Given the description of an element on the screen output the (x, y) to click on. 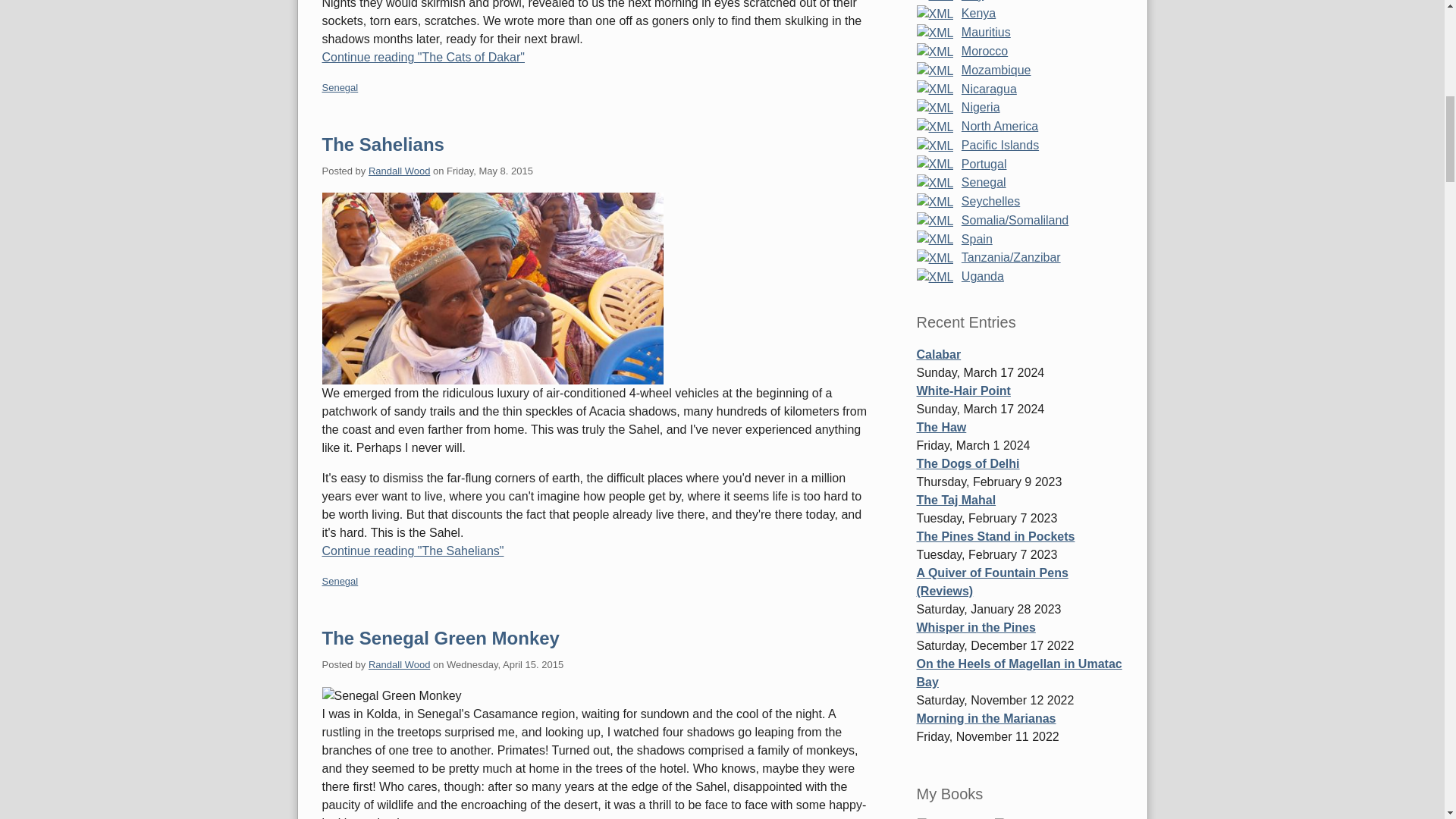
The Sahelians (491, 288)
Randall Wood (398, 170)
Senegal (339, 87)
Randall Wood (398, 664)
The Senegal Green Monkey (440, 638)
The Sahelians (382, 144)
Continue reading "The Sahelians" (594, 551)
Senegal (339, 581)
Continue reading "The Cats of Dakar" (594, 57)
Senegal Green Monkey (391, 696)
